Given the description of an element on the screen output the (x, y) to click on. 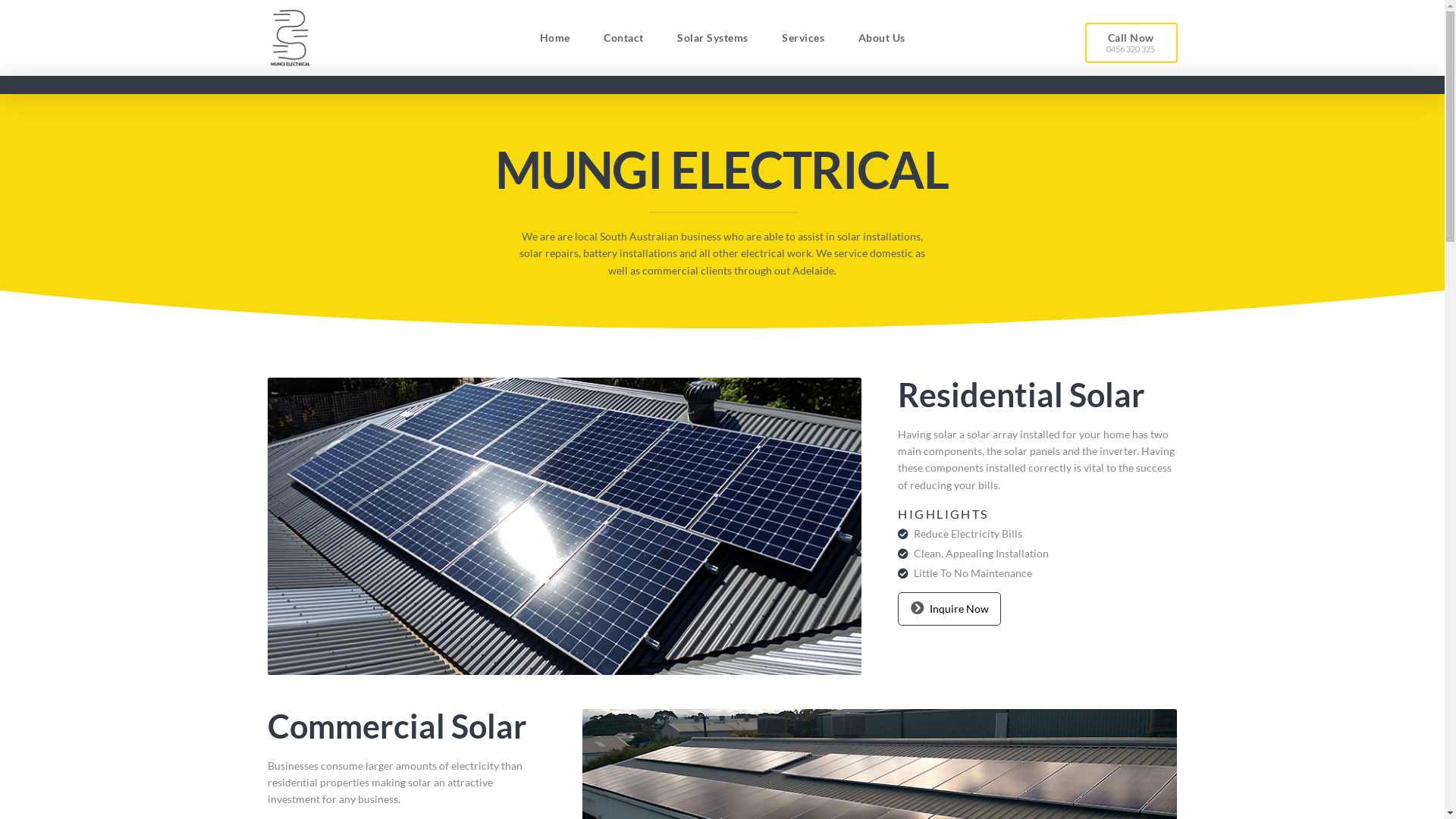
Inquire Now Element type: text (949, 608)
Contact Element type: text (623, 37)
Home Element type: text (554, 37)
Call Now
0456 320 325 Element type: text (1131, 42)
Services Element type: text (802, 37)
About Us Element type: text (880, 37)
Solar Systems Element type: text (712, 37)
